Given the description of an element on the screen output the (x, y) to click on. 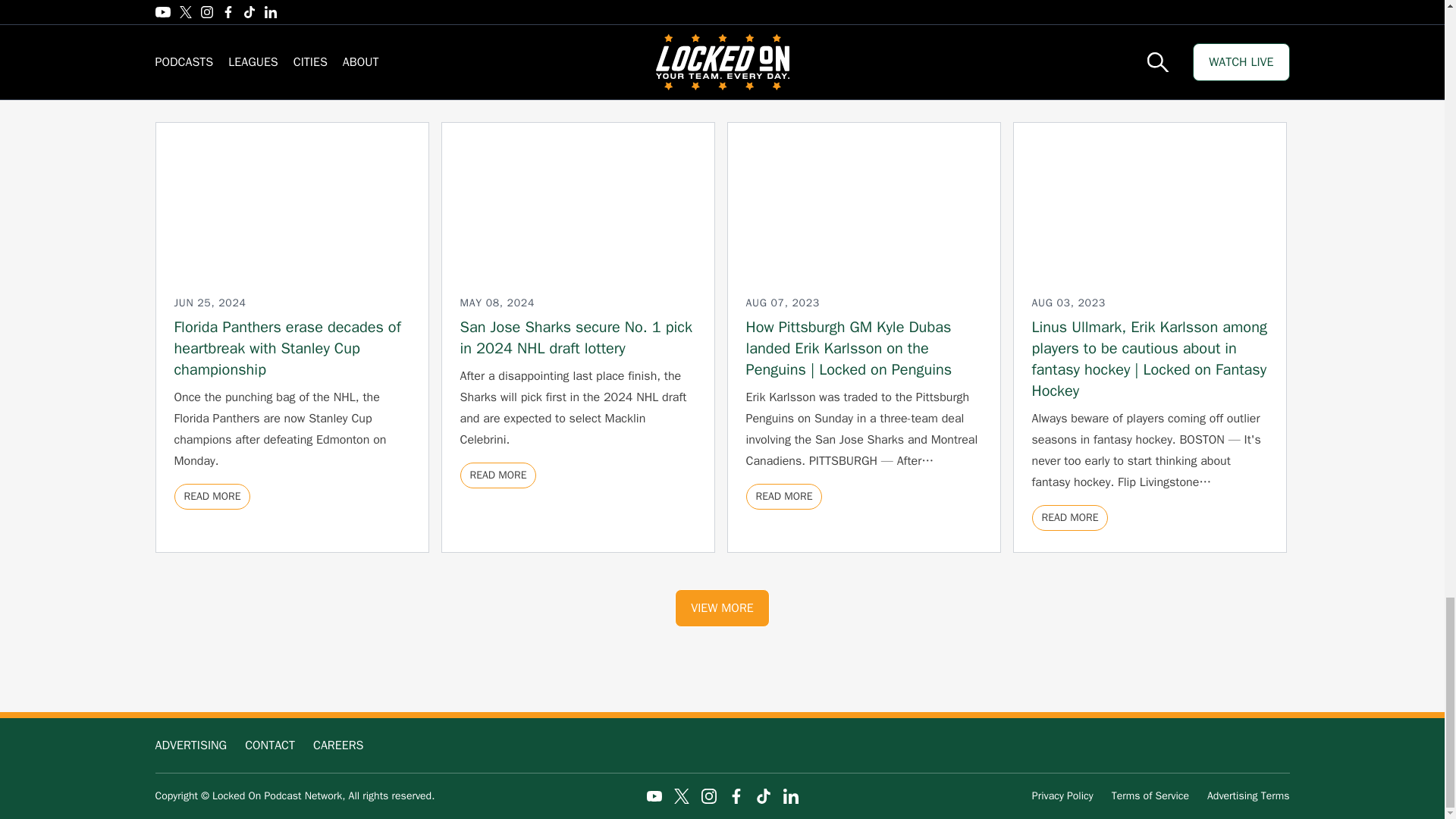
Link to Facebook (735, 795)
Link to Twitter (680, 795)
Link to Instagram (708, 795)
Link to TikTok (762, 795)
Link to YouTube (653, 795)
Link to LinkedIn (790, 795)
